Given the description of an element on the screen output the (x, y) to click on. 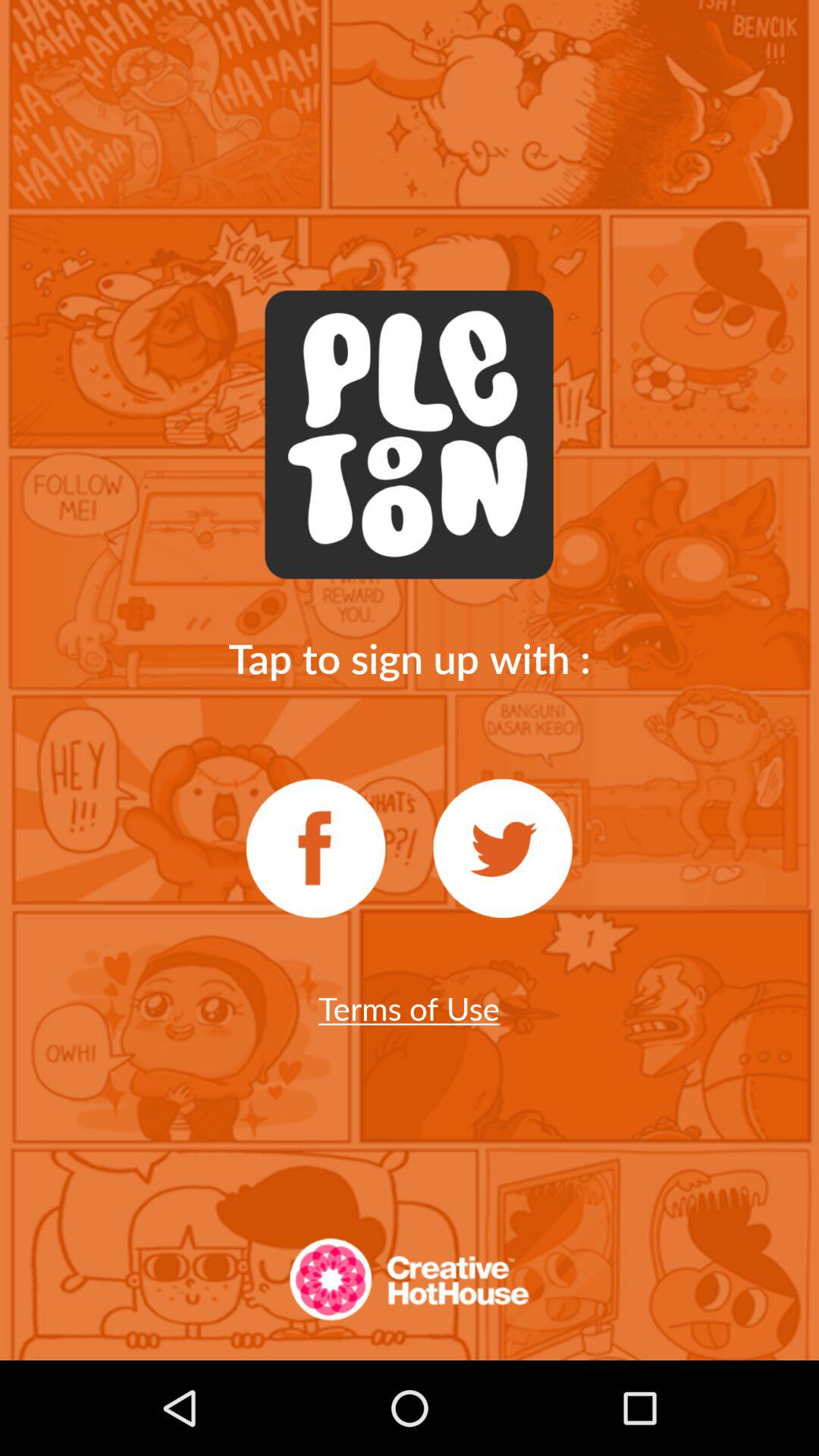
facebook (315, 848)
